Given the description of an element on the screen output the (x, y) to click on. 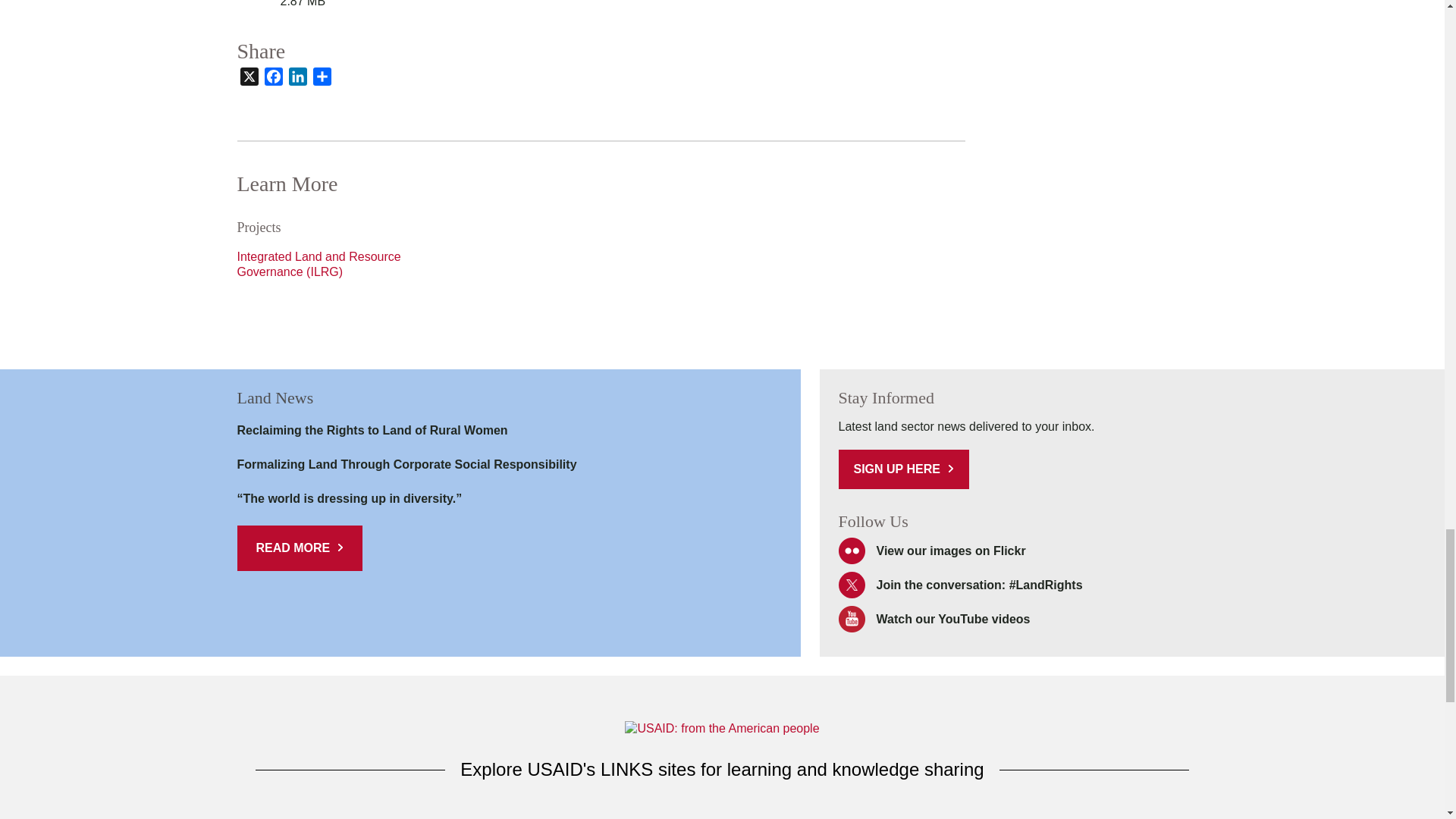
X (247, 78)
X (247, 78)
Go to USAID (721, 728)
Facebook (272, 78)
LinkedIn (296, 78)
